Given the description of an element on the screen output the (x, y) to click on. 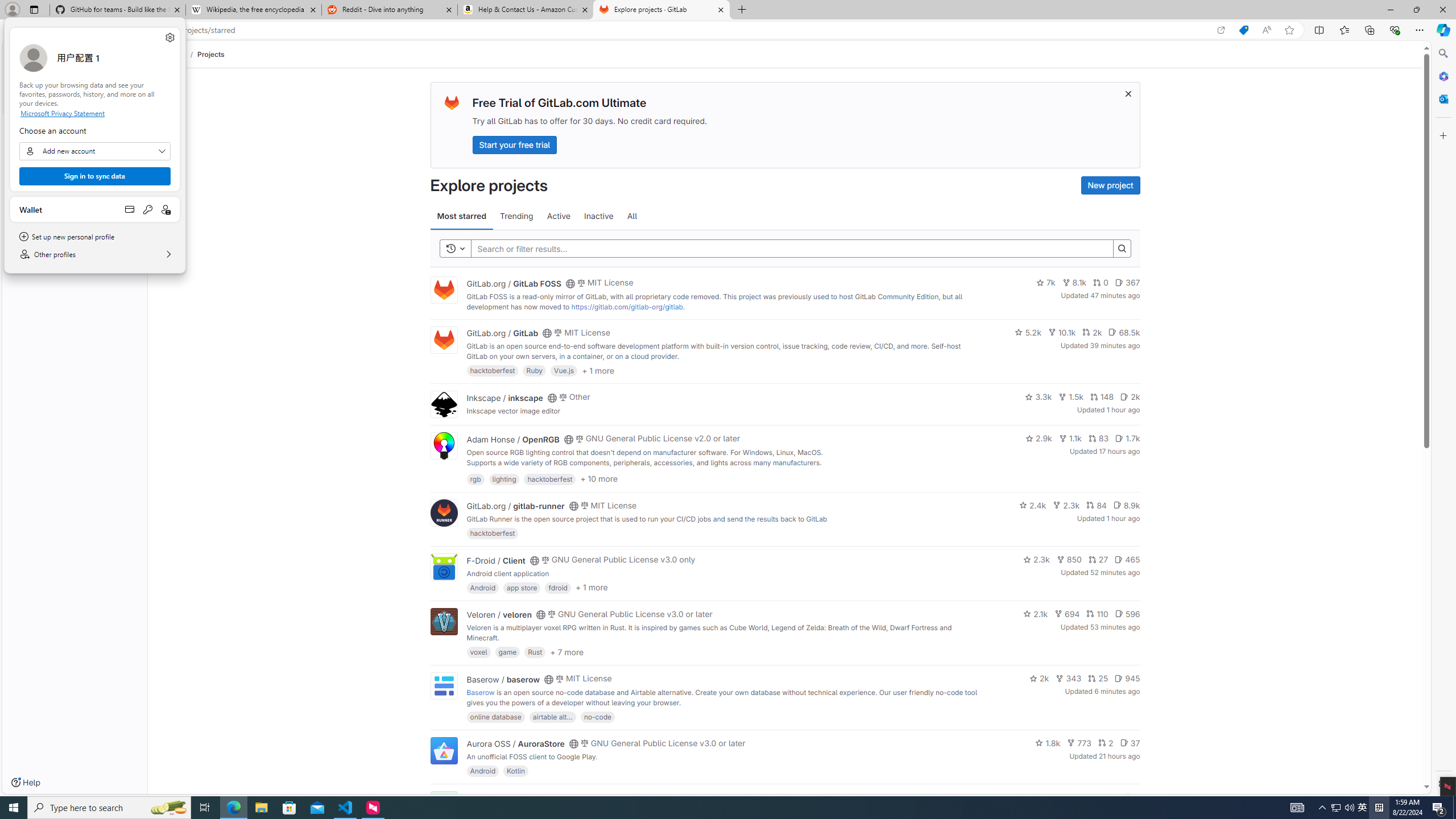
1.7k (1127, 438)
Ruby (533, 370)
Kotlin (515, 770)
https://gitlab.com/gitlab-org/gitlab (626, 306)
rgb (475, 478)
6 (1132, 797)
app store (521, 587)
10.1k (1061, 331)
Aurora OSS / AuroraStore (514, 743)
37 (1129, 742)
Set up new personal profile (94, 236)
